Given the description of an element on the screen output the (x, y) to click on. 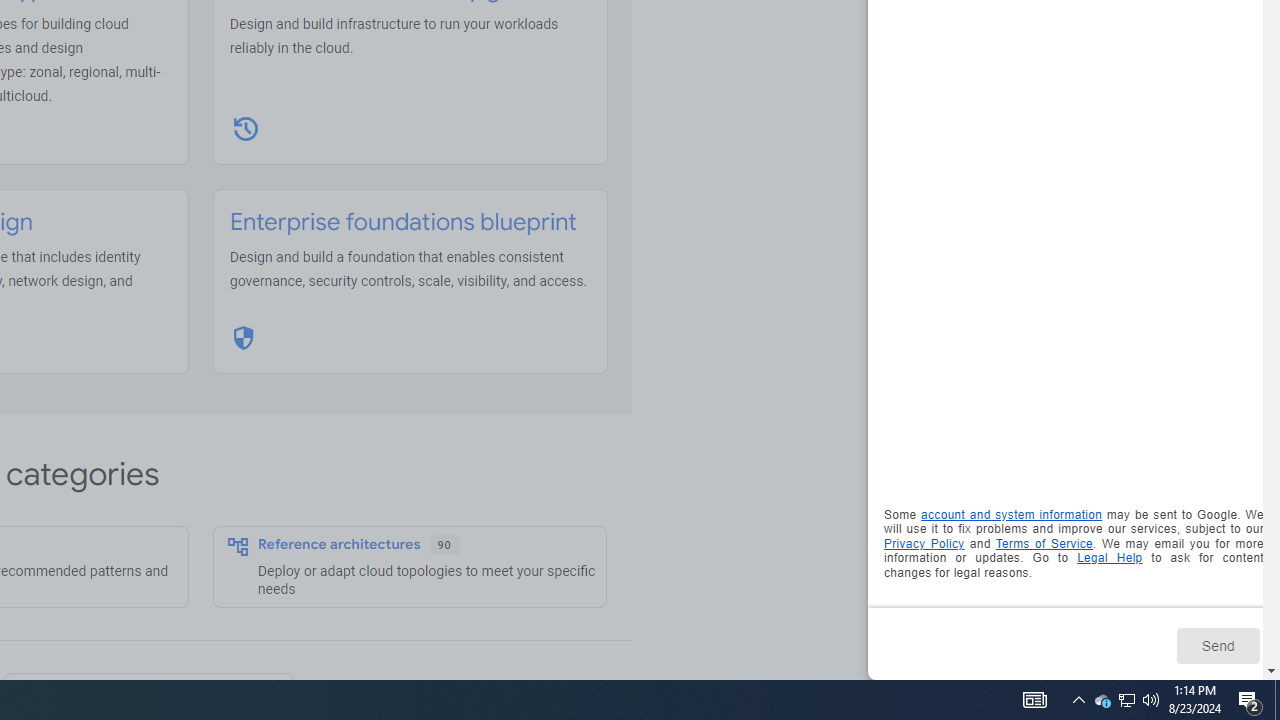
Opens in a new tab. Legal Help (1109, 557)
Opens in a new tab. Terms of Service (1044, 542)
Enterprise foundations blueprint (403, 221)
Opens in a new tab. Privacy Policy (924, 542)
Send (1217, 645)
account and system information (1012, 515)
